Given the description of an element on the screen output the (x, y) to click on. 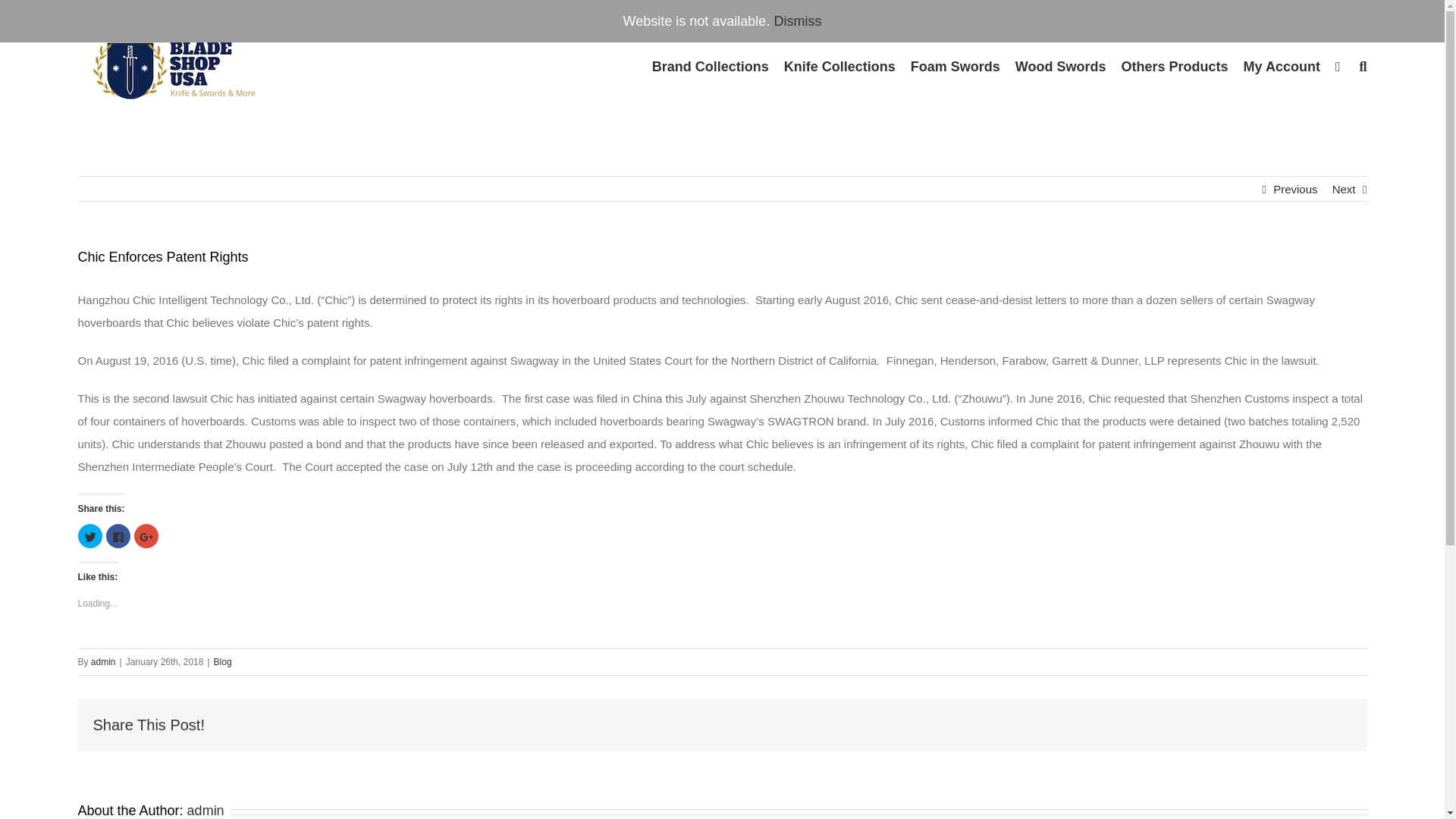
Posts by admin (103, 661)
Click to share on Facebook (118, 535)
Log In (1338, 247)
Previous (1294, 189)
Posts by admin (205, 810)
Click to share on Twitter (89, 535)
